Given the description of an element on the screen output the (x, y) to click on. 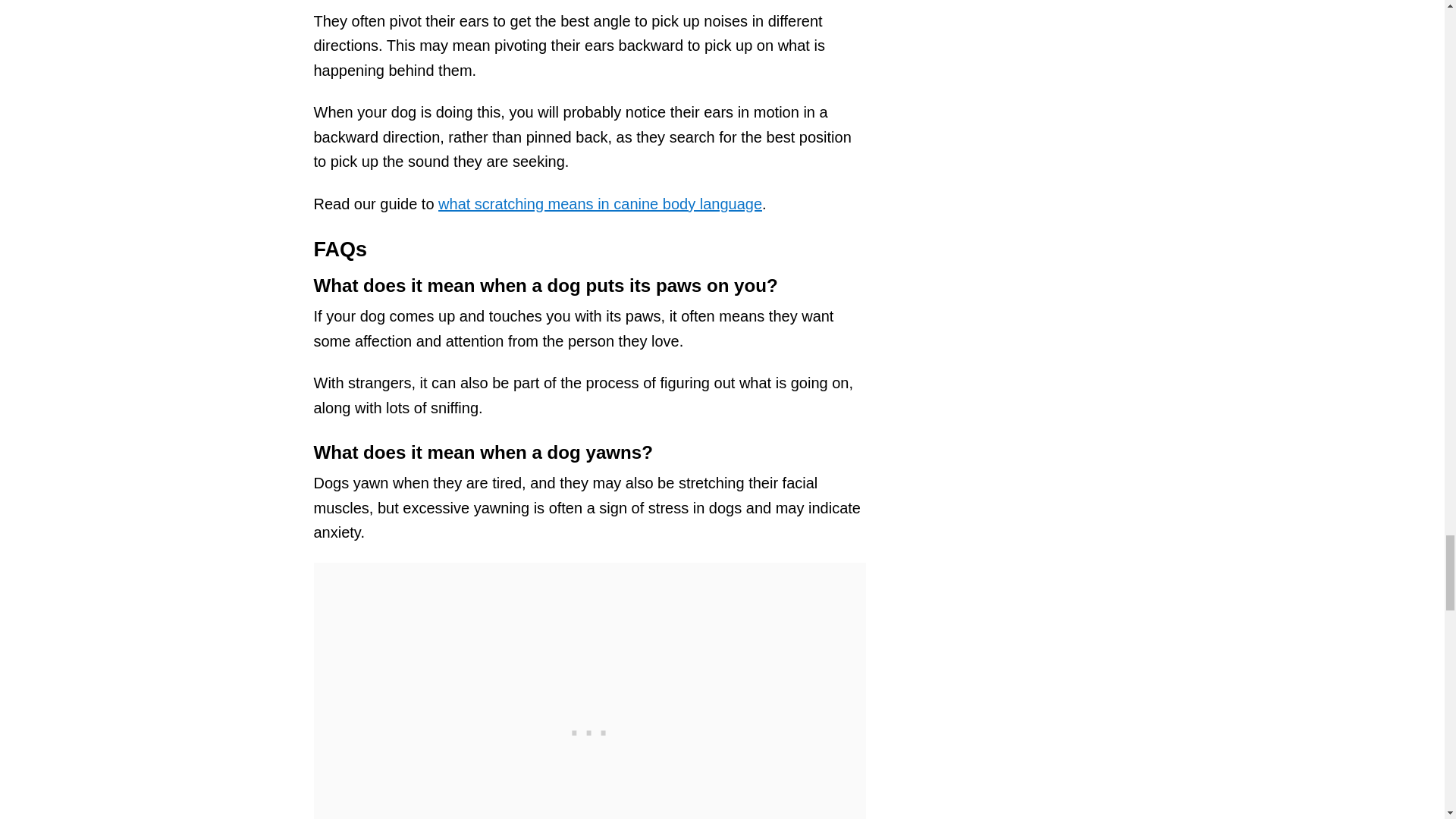
what scratching means in canine body language (599, 203)
